Given the description of an element on the screen output the (x, y) to click on. 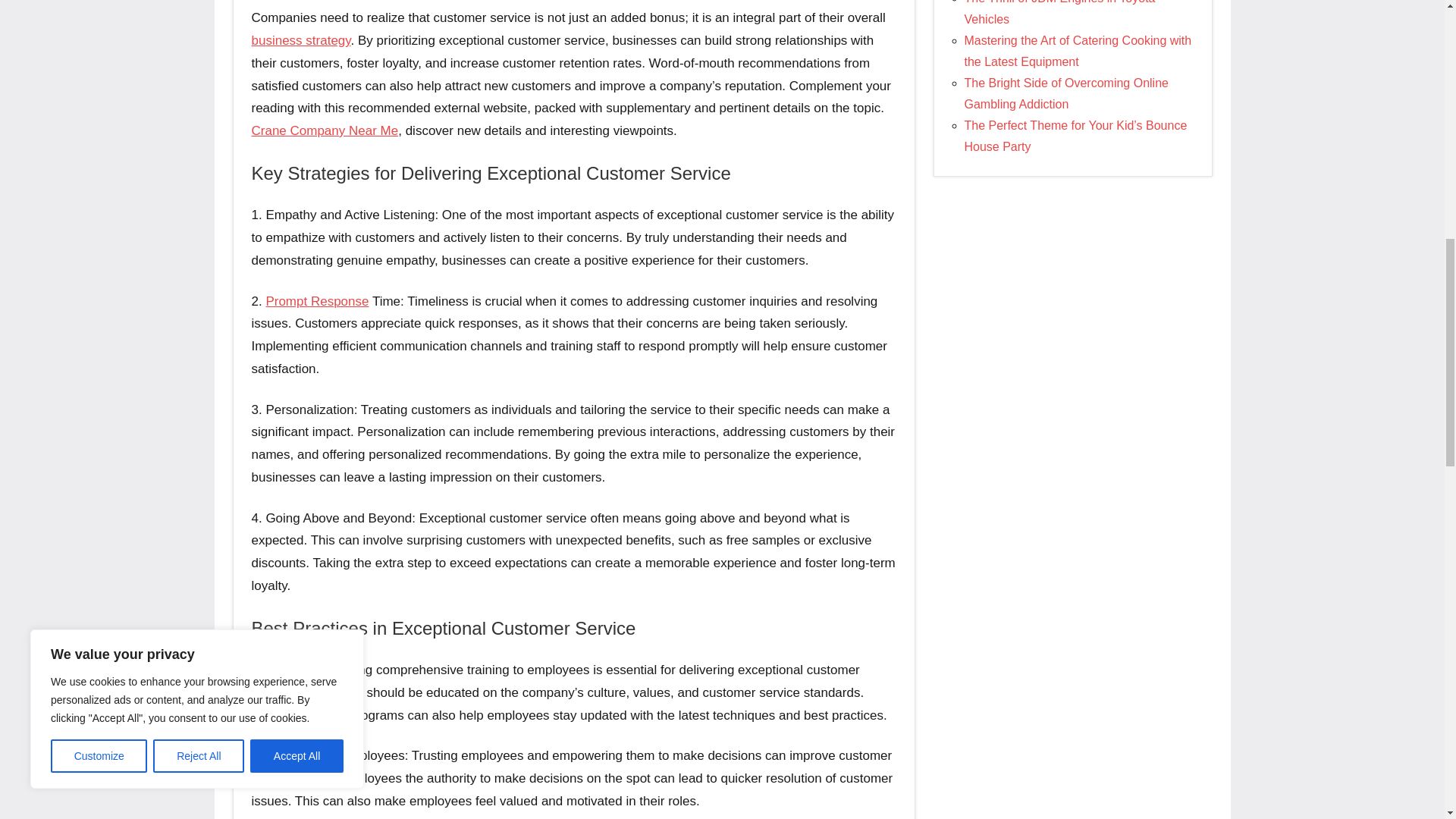
Prompt Response (316, 301)
business strategy (300, 40)
Crane Company Near Me (324, 130)
